Given the description of an element on the screen output the (x, y) to click on. 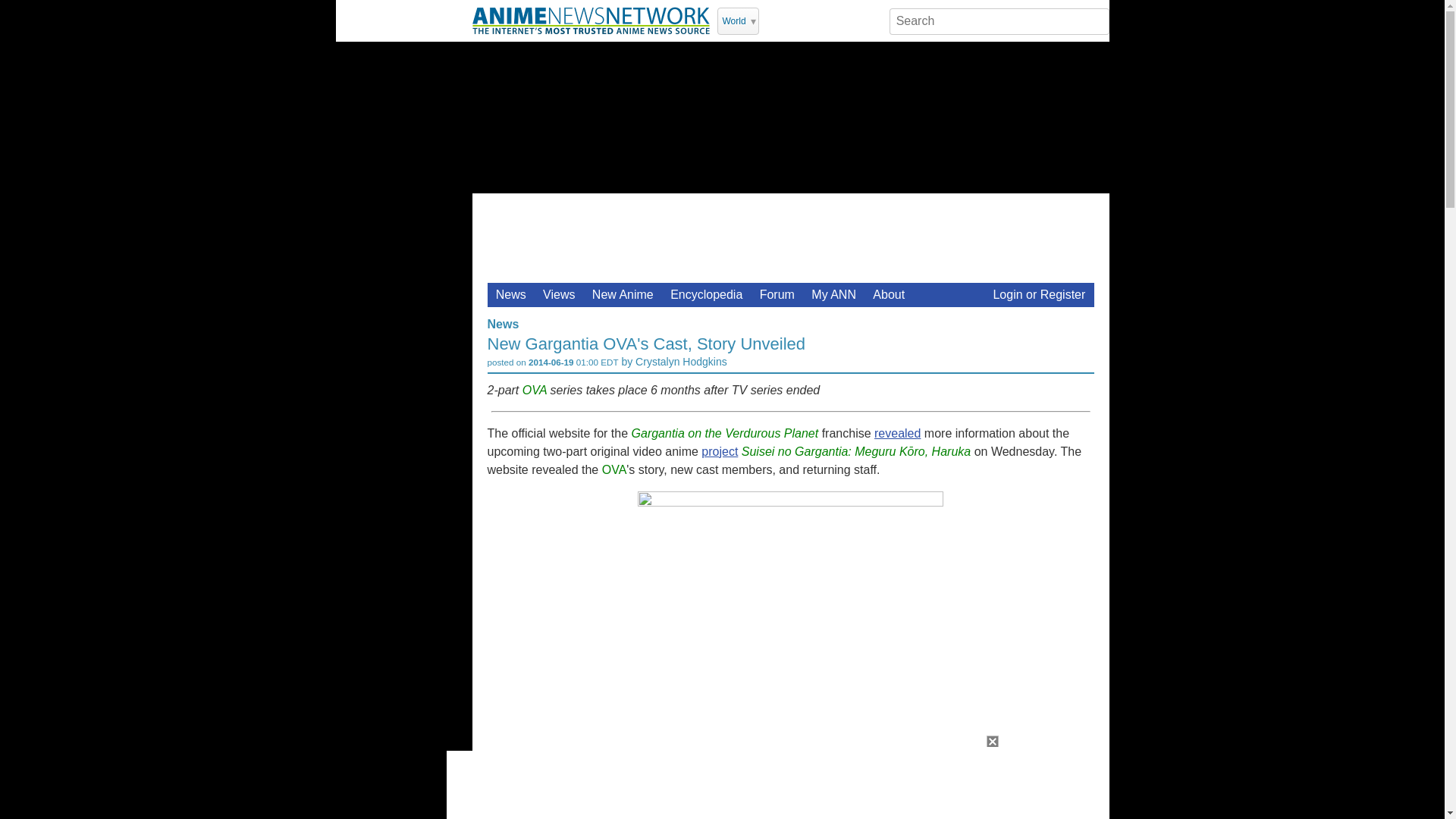
Youtube (793, 20)
TikTok (852, 20)
Twitter (772, 20)
Facebook (812, 20)
Choose Your Edition (737, 21)
open preferences (1086, 321)
Instagram (832, 20)
Return to Homepage (590, 20)
Bluesky (871, 20)
